Given the description of an element on the screen output the (x, y) to click on. 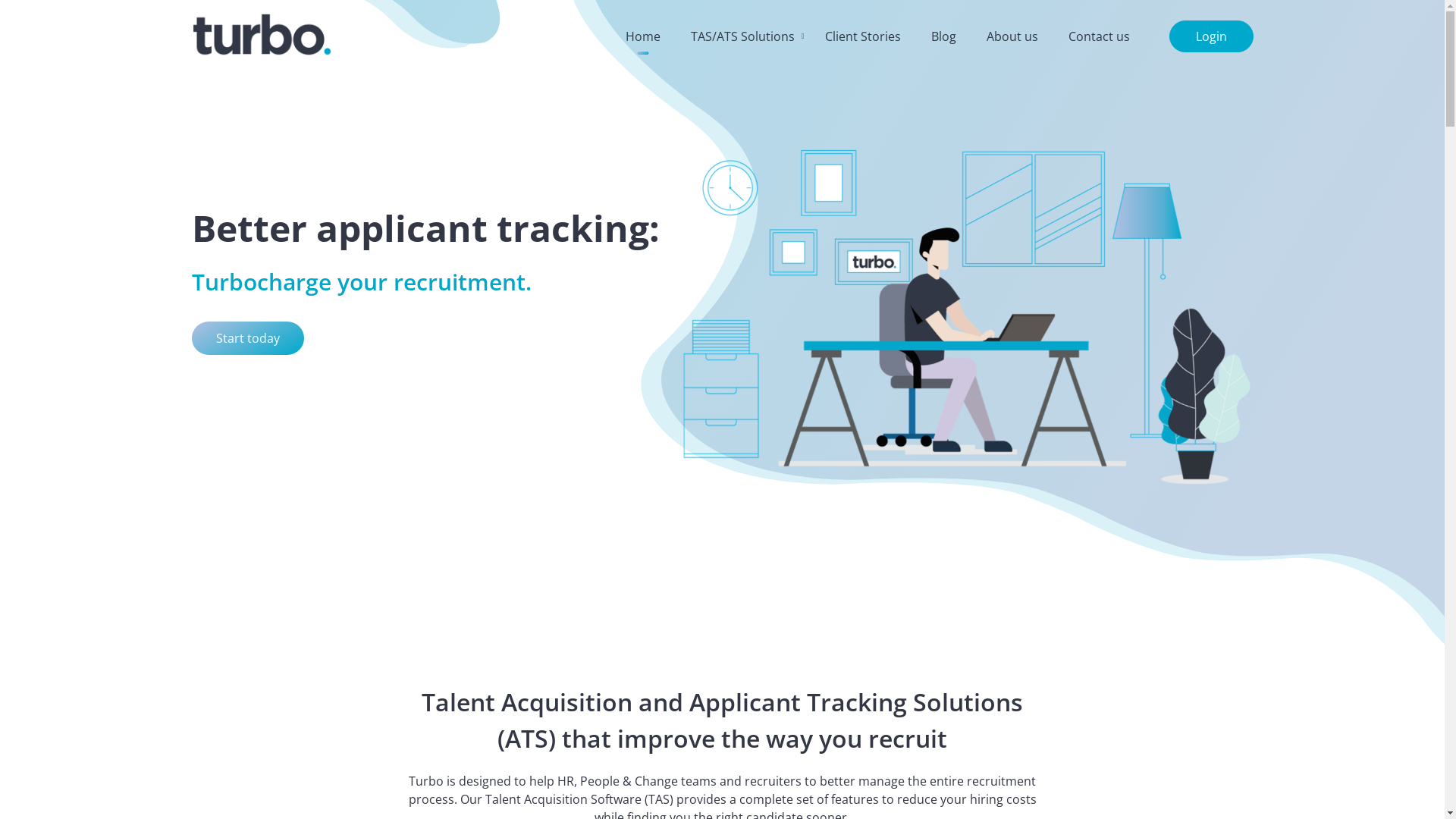
Contact us Element type: text (1098, 36)
Home Element type: text (641, 36)
Client Stories Element type: text (862, 36)
TAS/ATS Solutions Element type: text (741, 36)
Start today Element type: text (247, 337)
About us Element type: text (1011, 36)
Login Element type: text (1211, 36)
Blog Element type: text (943, 36)
